Given the description of an element on the screen output the (x, y) to click on. 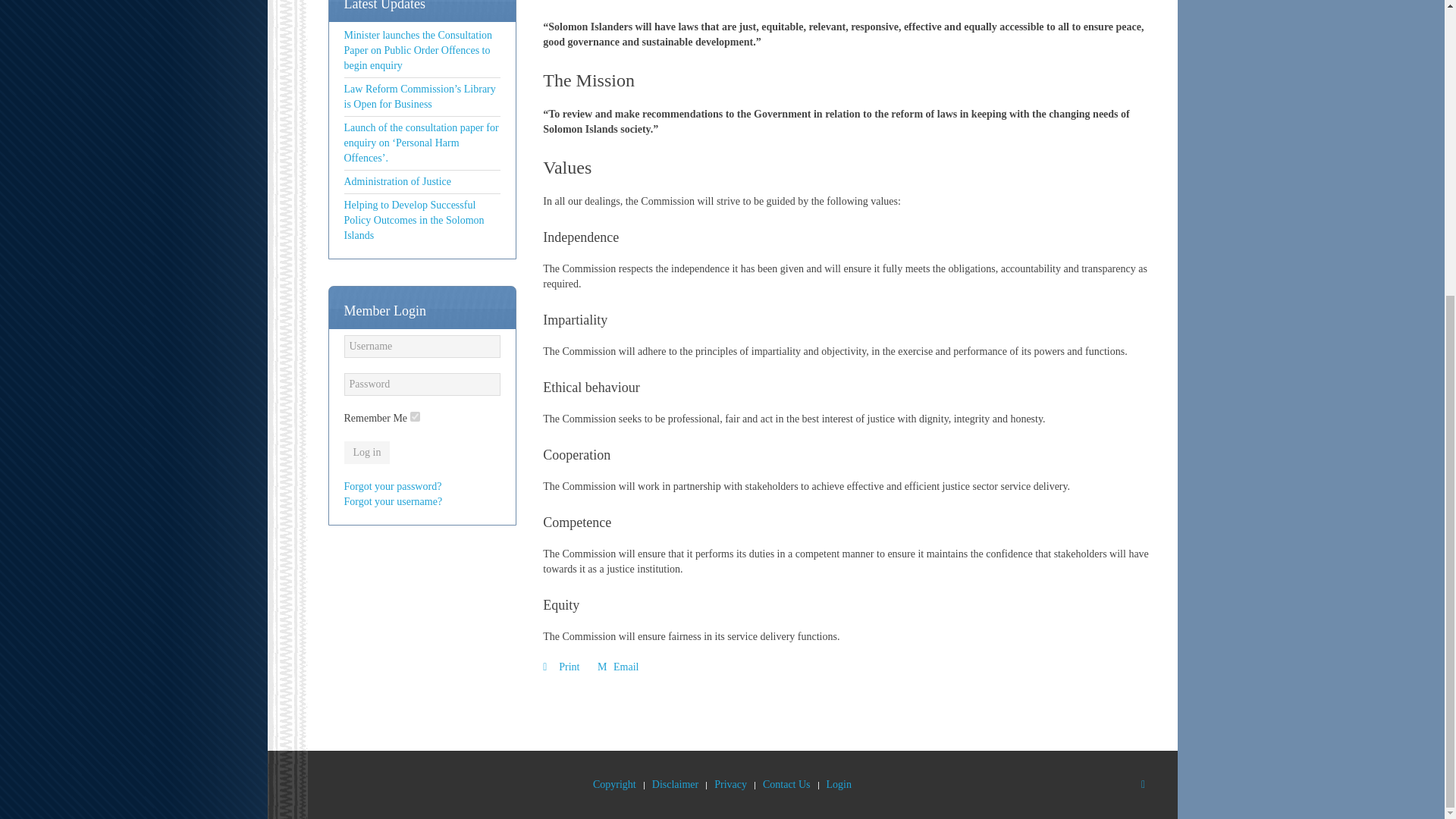
Print (562, 666)
Email (617, 666)
yes (415, 416)
Email this link to a friend (617, 666)
